Given the description of an element on the screen output the (x, y) to click on. 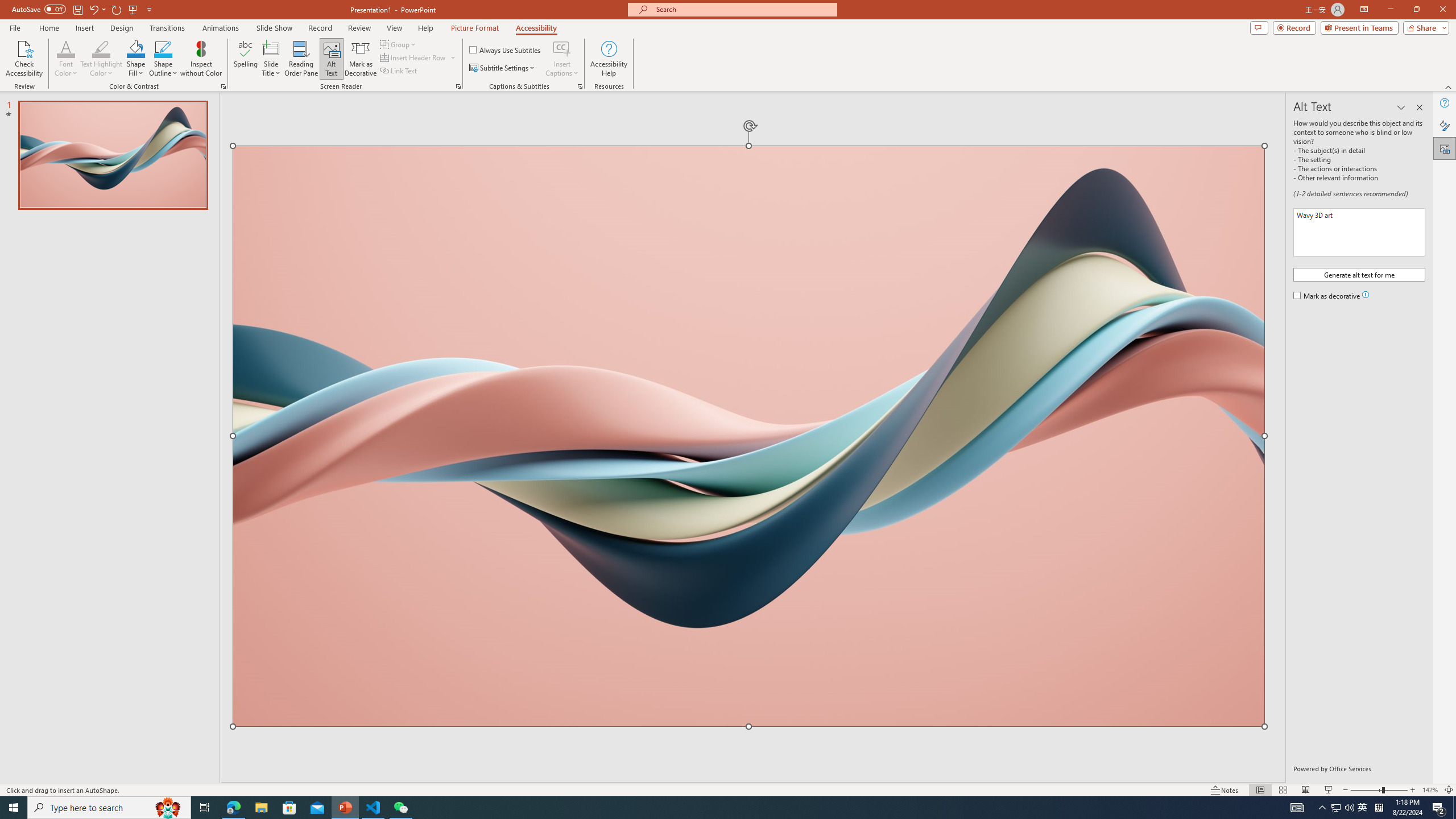
Zoom 142% (1430, 790)
Format Picture (1444, 125)
Color & Contrast (223, 85)
